Given the description of an element on the screen output the (x, y) to click on. 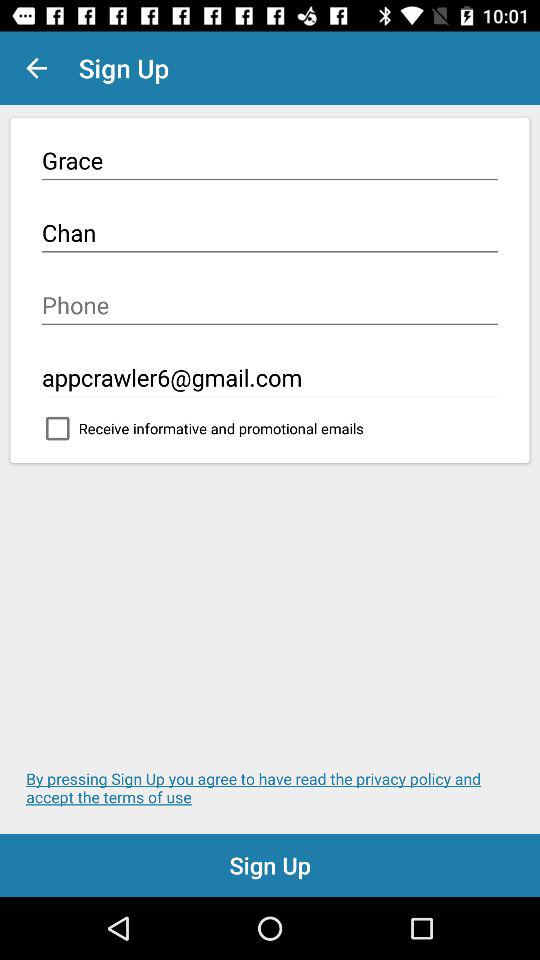
select the button below appcrawler6gmailcom (269, 433)
select the text which is immediately below the phone (269, 378)
